Given the description of an element on the screen output the (x, y) to click on. 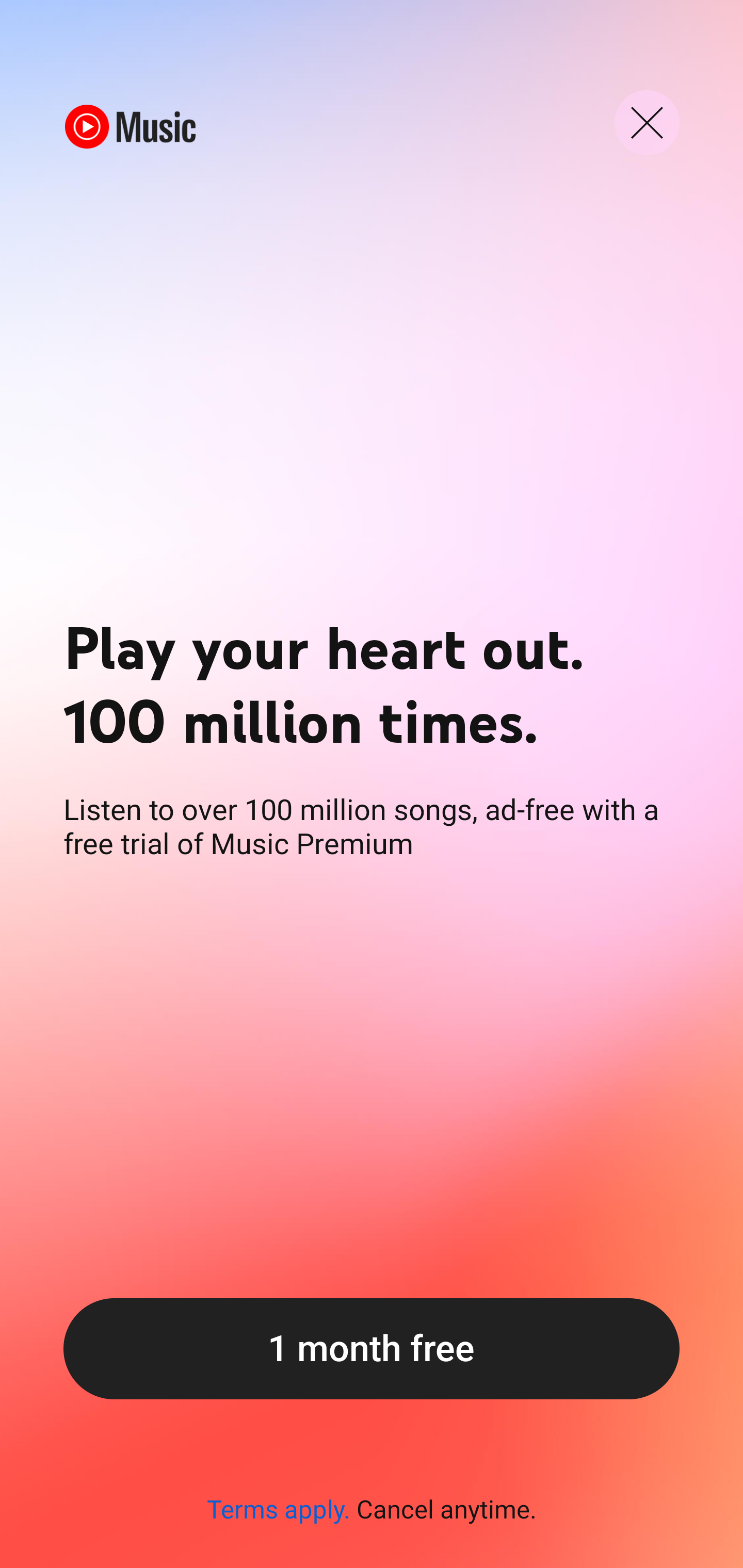
Close (646, 122)
1 month free (371, 1348)
